Given the description of an element on the screen output the (x, y) to click on. 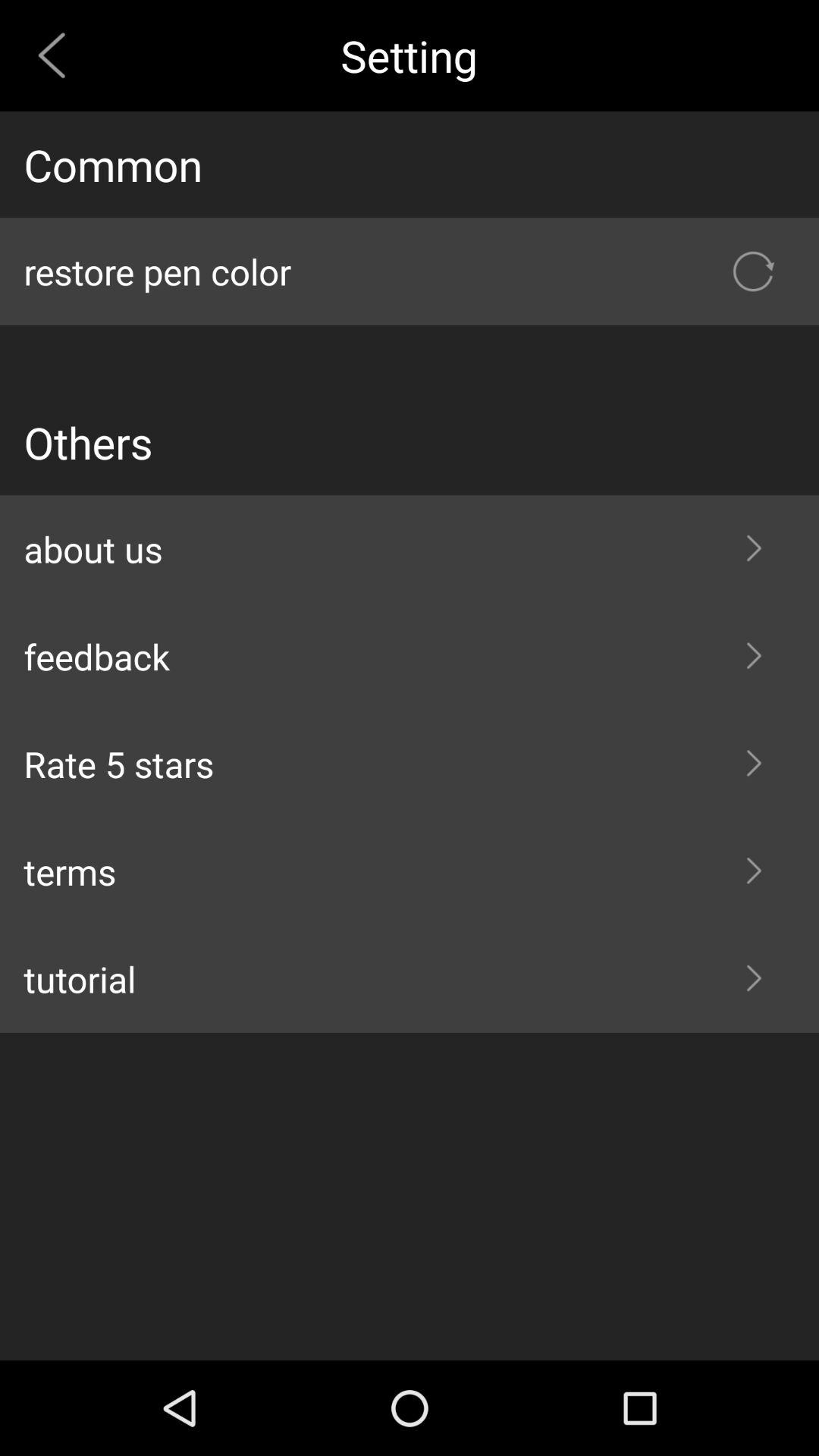
launch the item next to setting (57, 55)
